Given the description of an element on the screen output the (x, y) to click on. 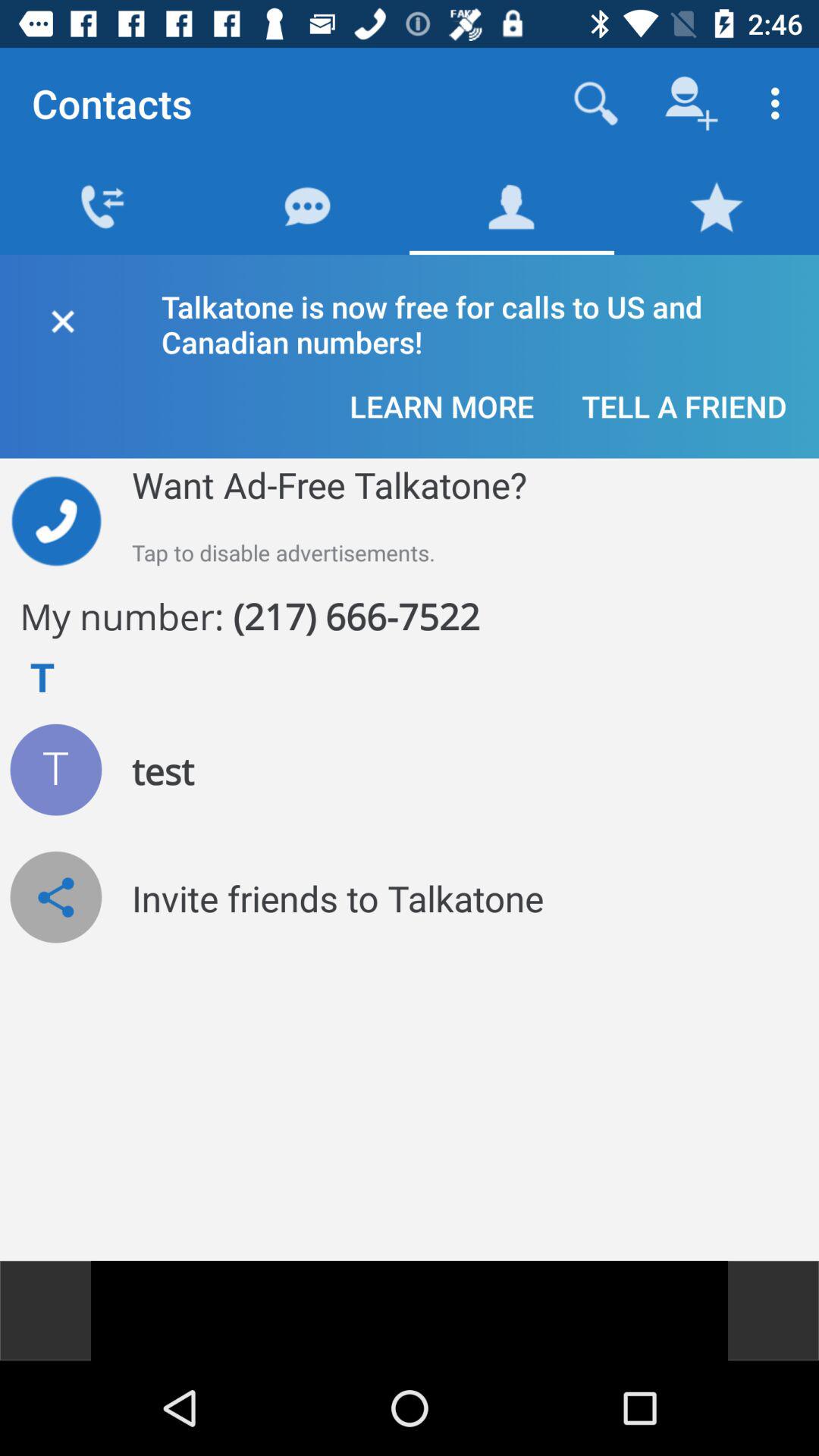
t icon (55, 769)
